Given the description of an element on the screen output the (x, y) to click on. 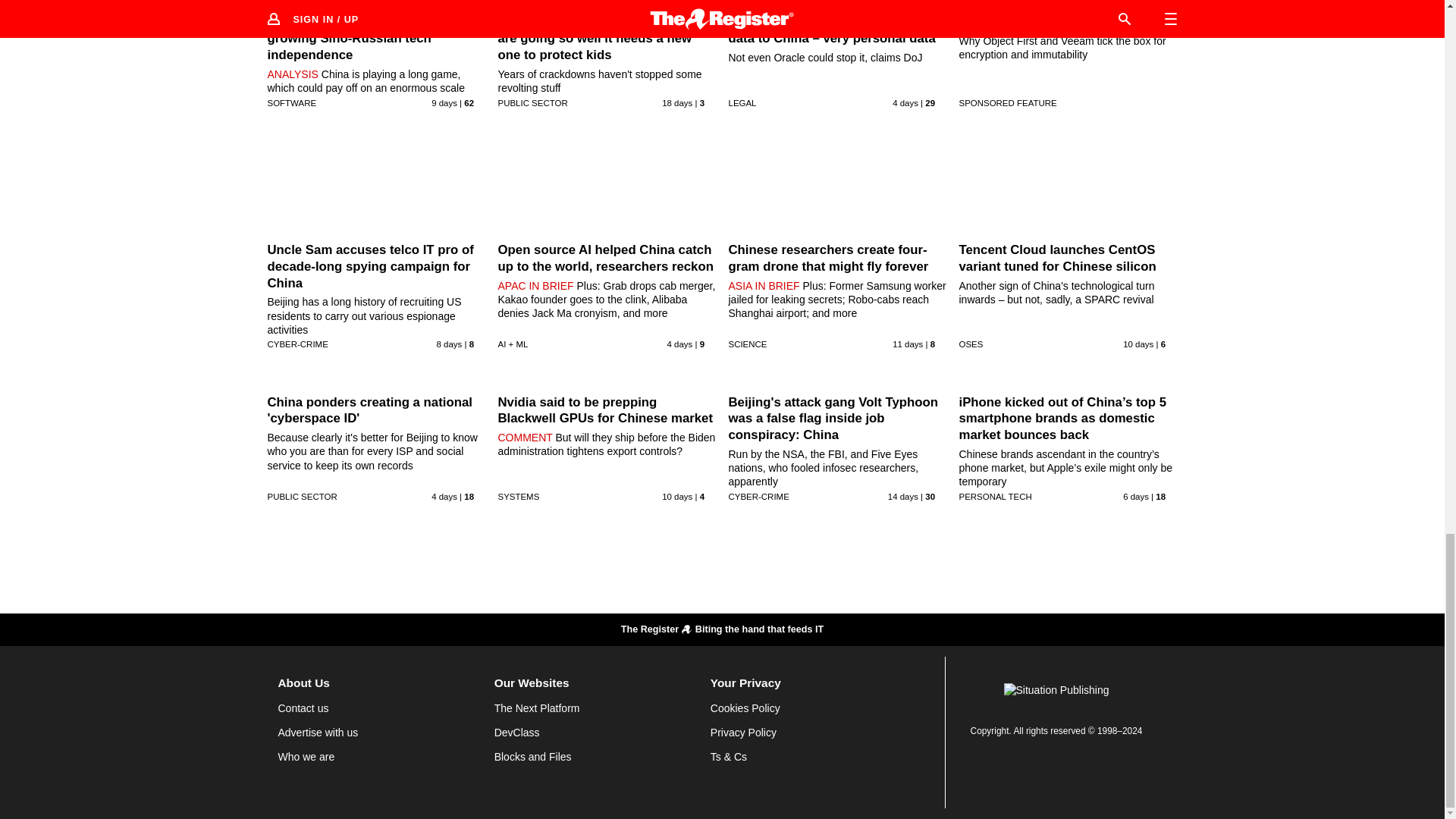
22 Jul 2024 18:30 (677, 496)
25 Jul 2024 17:15 (449, 343)
22 Jul 2024 1:53 (907, 343)
24 Jul 2024 13:3 (443, 102)
29 Jul 2024 0:52 (679, 343)
29 Jul 2024 5:28 (443, 496)
23 Jul 2024 4:28 (1137, 343)
29 Jul 2024 4:29 (905, 102)
15 Jul 2024 5:32 (677, 102)
